Given the description of an element on the screen output the (x, y) to click on. 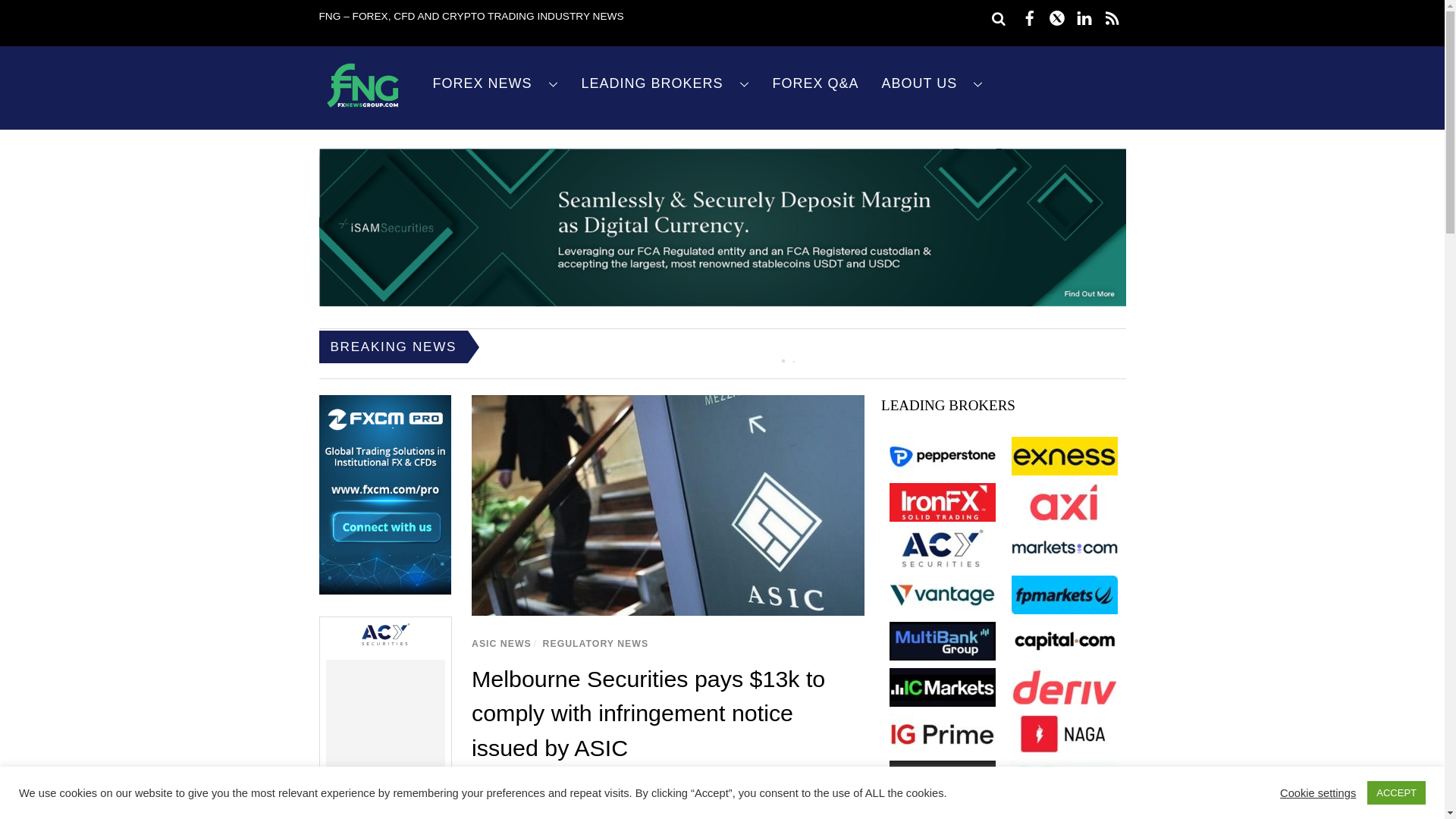
LEADING BROKERS (665, 83)
FOREX NEWS (496, 83)
FX News Group (362, 108)
ASIC office (667, 504)
